Given the description of an element on the screen output the (x, y) to click on. 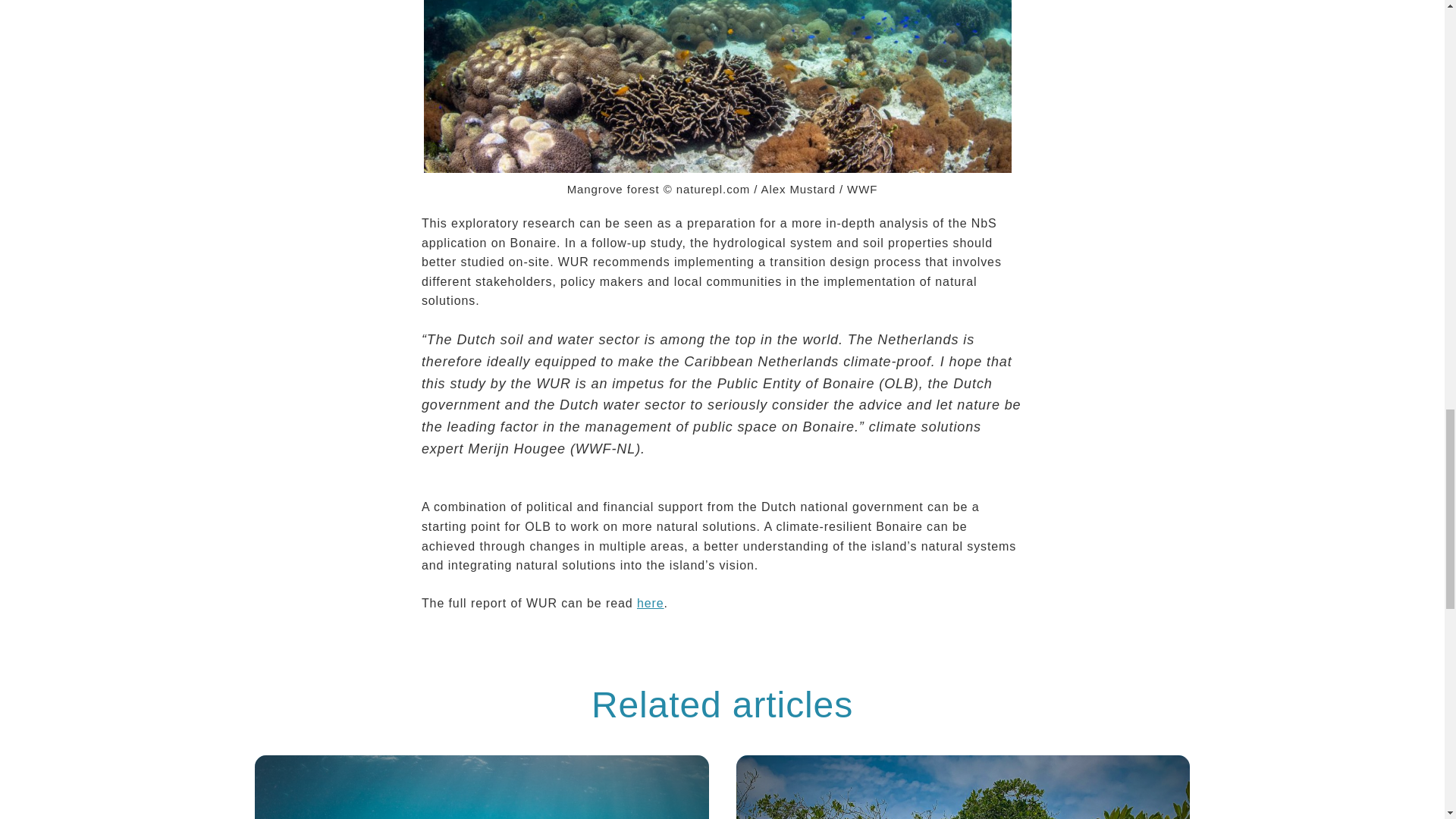
here (650, 603)
